Given the description of an element on the screen output the (x, y) to click on. 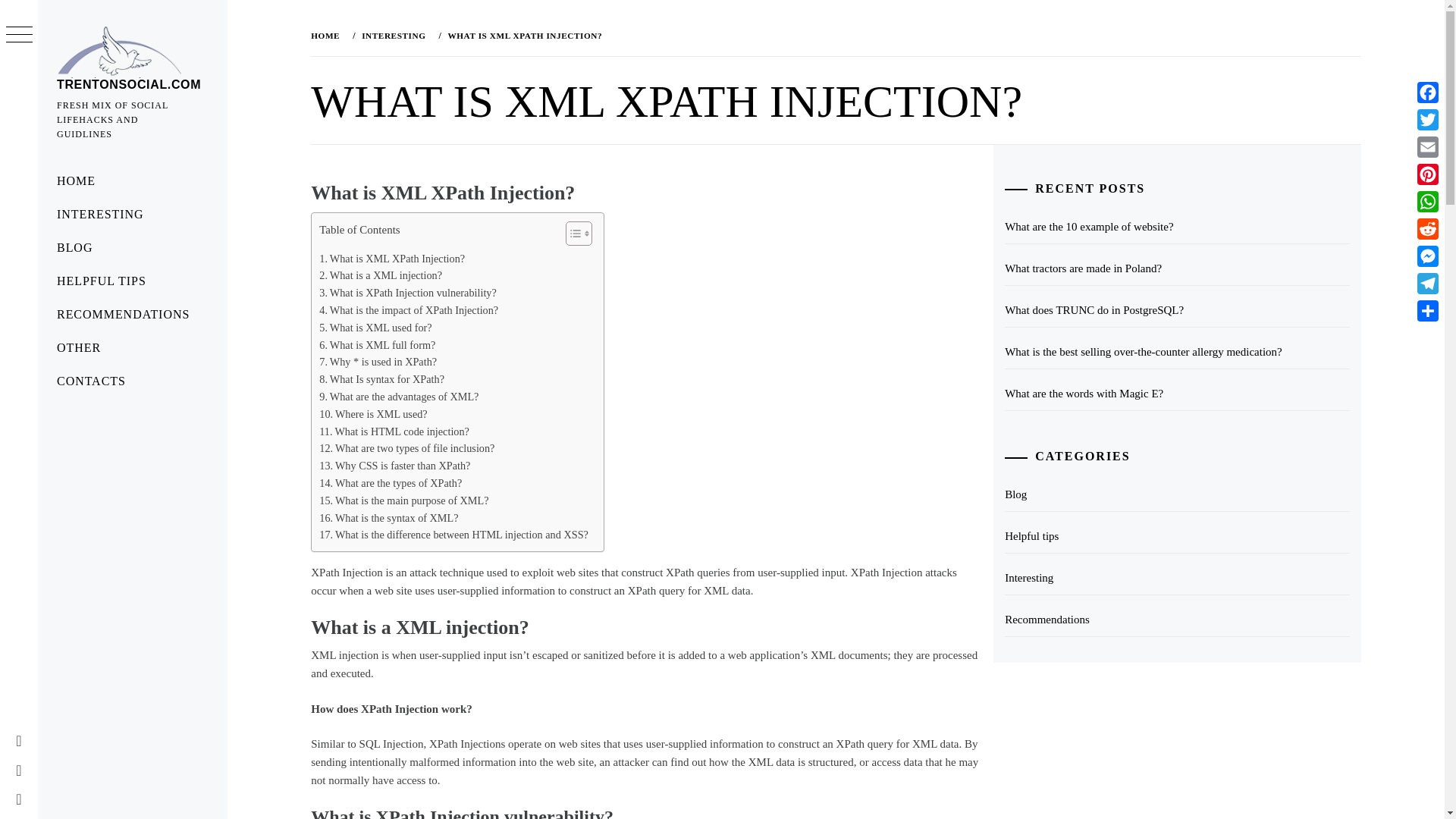
Why CSS is faster than XPath? (394, 466)
What are two types of file inclusion? (406, 448)
What is XML full form? (376, 344)
What is the main purpose of XML? (402, 500)
What is the impact of XPath Injection? (407, 310)
What is the main purpose of XML? (402, 500)
Where is XML used? (372, 414)
INTERESTING (132, 214)
Why CSS is faster than XPath? (394, 466)
What is XPath Injection vulnerability? (407, 293)
What are the advantages of XML? (398, 396)
What is XML full form? (376, 344)
What is the impact of XPath Injection? (407, 310)
What is XML XPath Injection? (391, 258)
What are the advantages of XML? (398, 396)
